Given the description of an element on the screen output the (x, y) to click on. 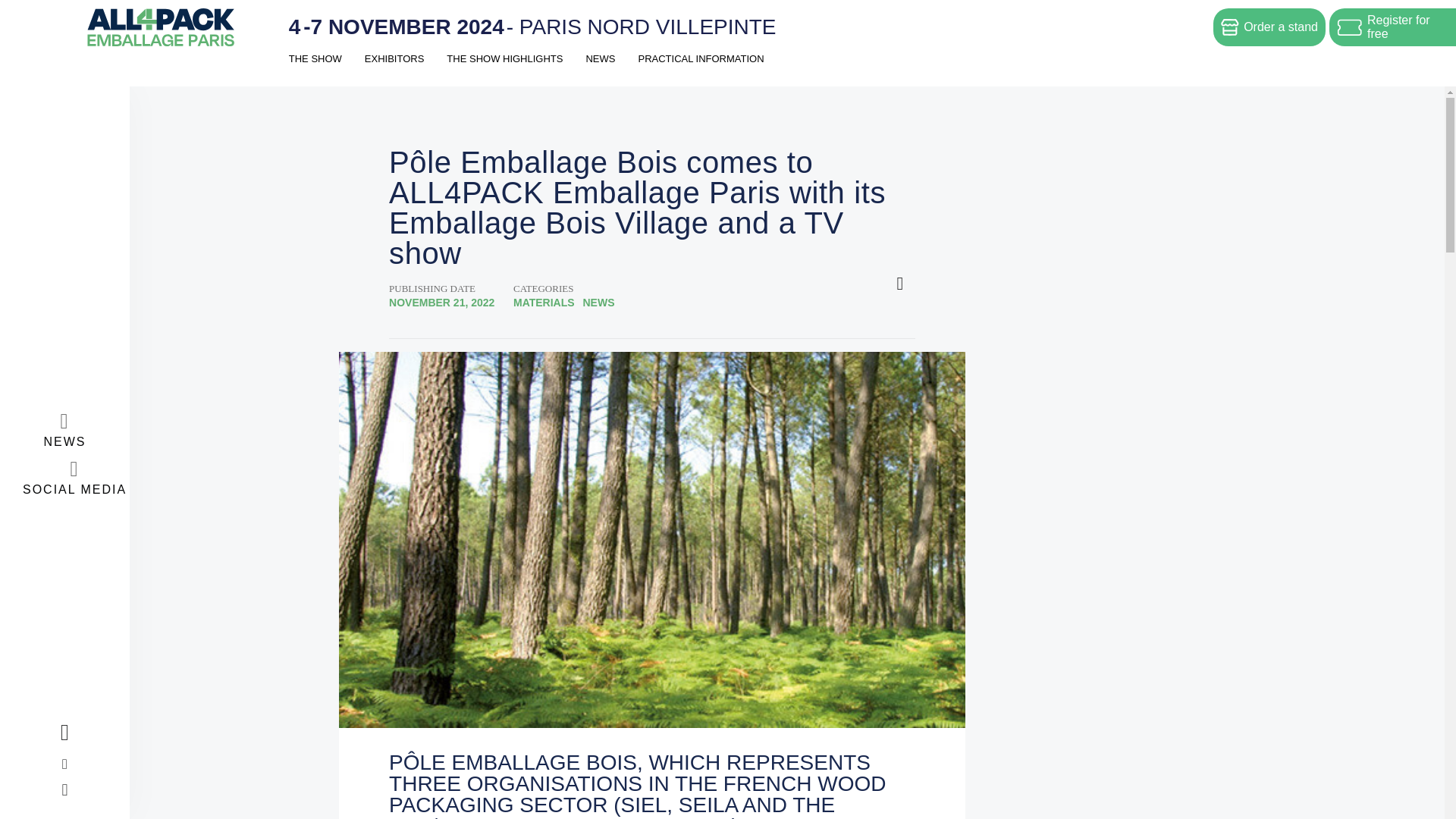
THE SHOW (315, 70)
EXHIBITORS (394, 70)
THE SHOW HIGHLIGHTS (504, 70)
Order a stand (1268, 26)
The show (315, 70)
NEWS (599, 70)
PRACTICAL INFORMATION (700, 70)
